Given the description of an element on the screen output the (x, y) to click on. 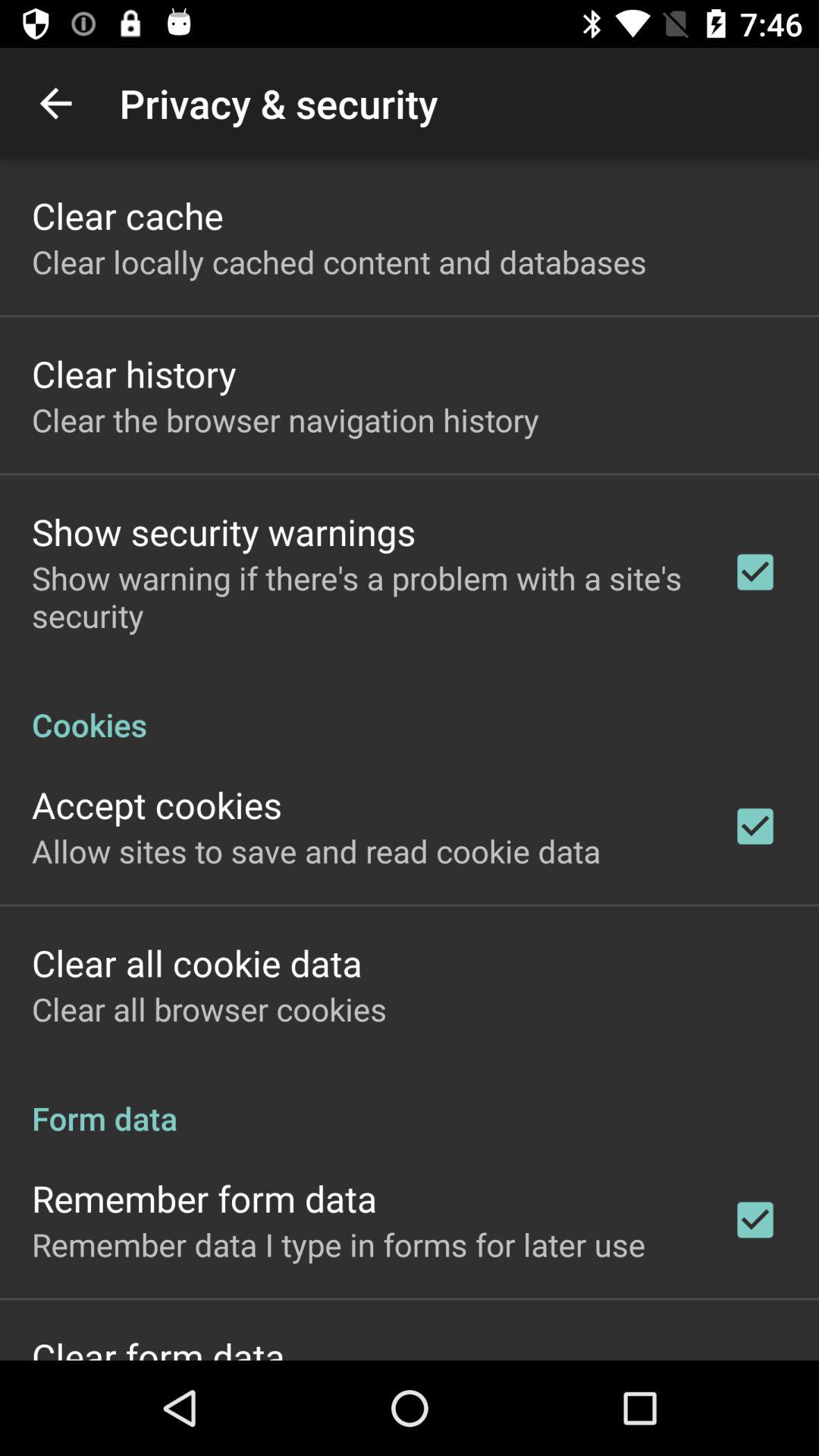
click item to the left of privacy & security app (55, 103)
